Given the description of an element on the screen output the (x, y) to click on. 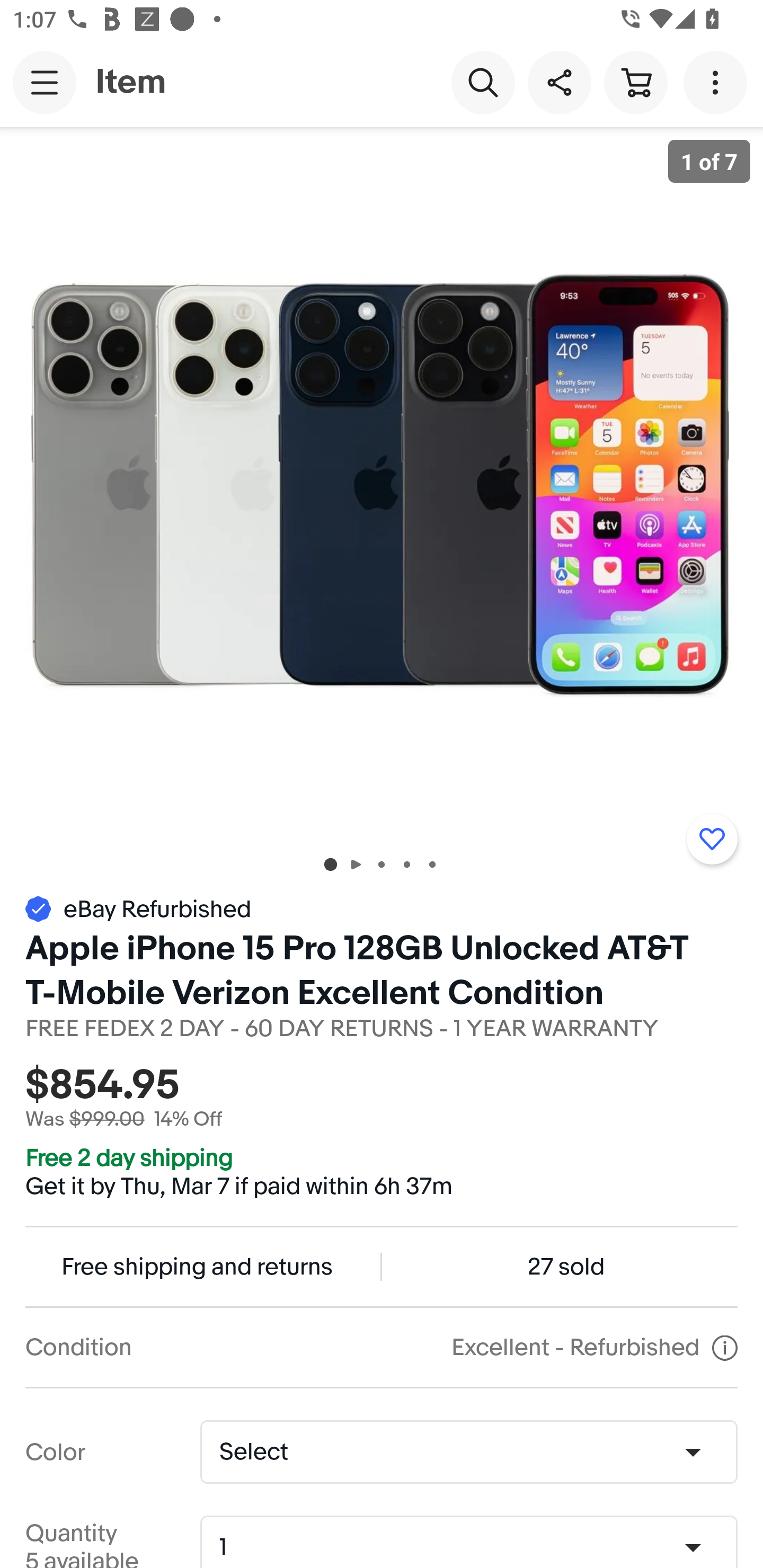
Main navigation, open (44, 82)
Search (482, 81)
Share this item (559, 81)
Cart button shopping cart (635, 81)
More options (718, 81)
Item image 1 of 7 (381, 482)
Add to watchlist (711, 838)
Color,No selection Select (468, 1451)
Quantity,1,5 available 1 (474, 1547)
